Given the description of an element on the screen output the (x, y) to click on. 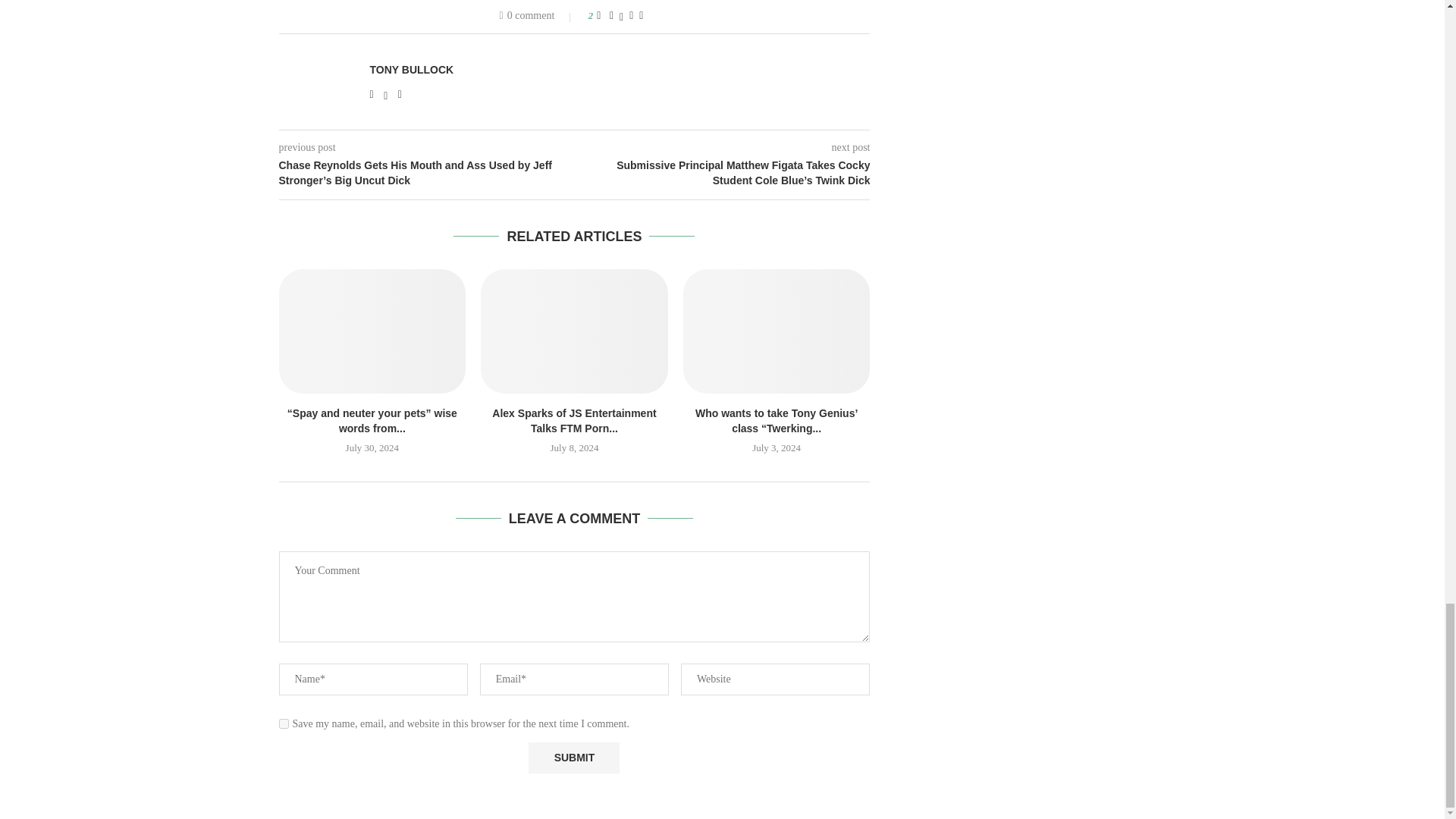
Submit (574, 757)
Author Tony Bullock (411, 69)
yes (283, 723)
Alex Sparks of JS Entertainment Talks FTM Porn at GayVNs (574, 331)
